Given the description of an element on the screen output the (x, y) to click on. 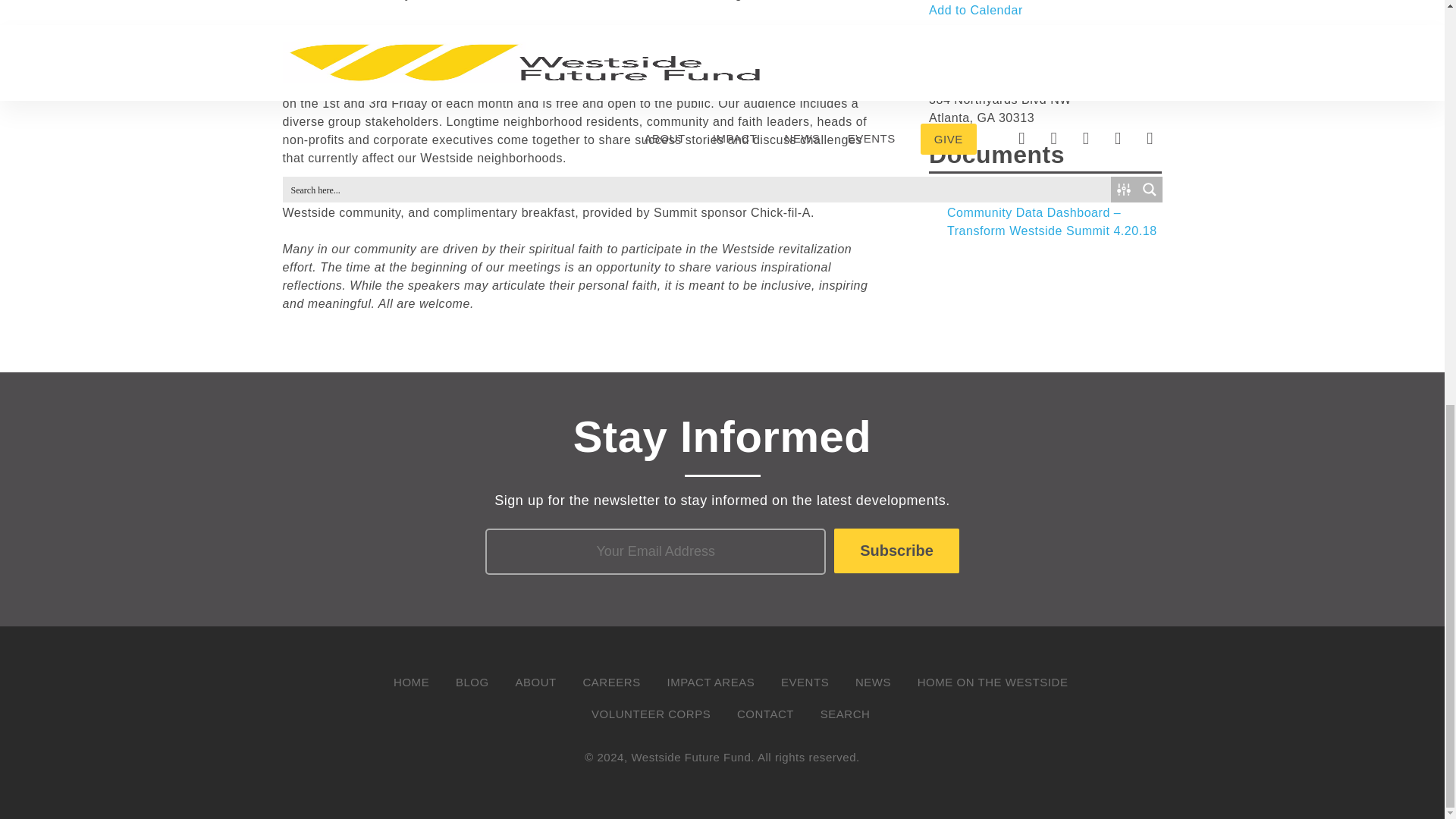
Subscribe (896, 550)
